Given the description of an element on the screen output the (x, y) to click on. 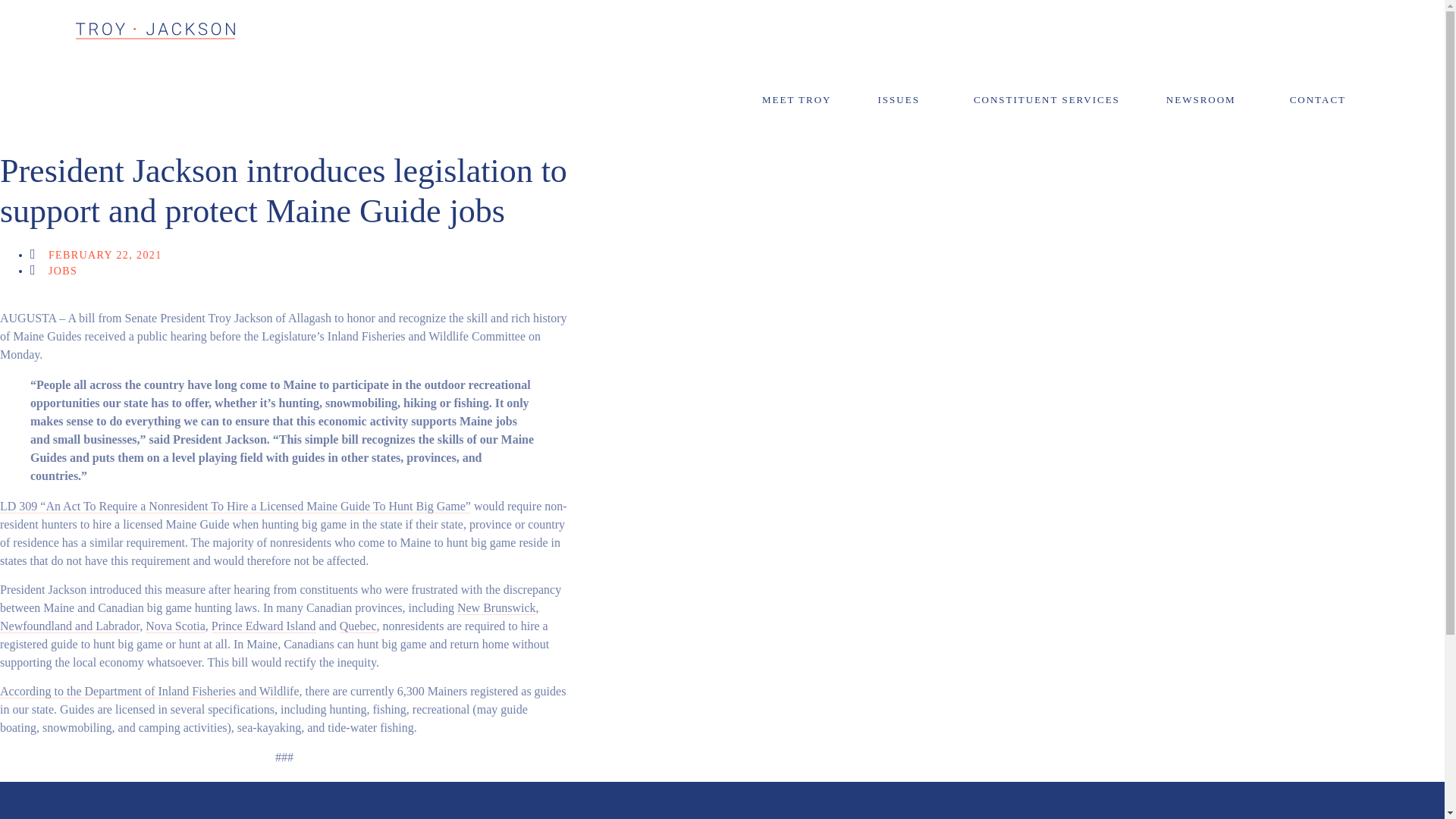
CONTACT (1321, 99)
NEWSROOM (1205, 99)
MEET TROY (796, 99)
ISSUES (902, 99)
New Brunswick (496, 608)
CONSTITUENT SERVICES (1046, 99)
